Given the description of an element on the screen output the (x, y) to click on. 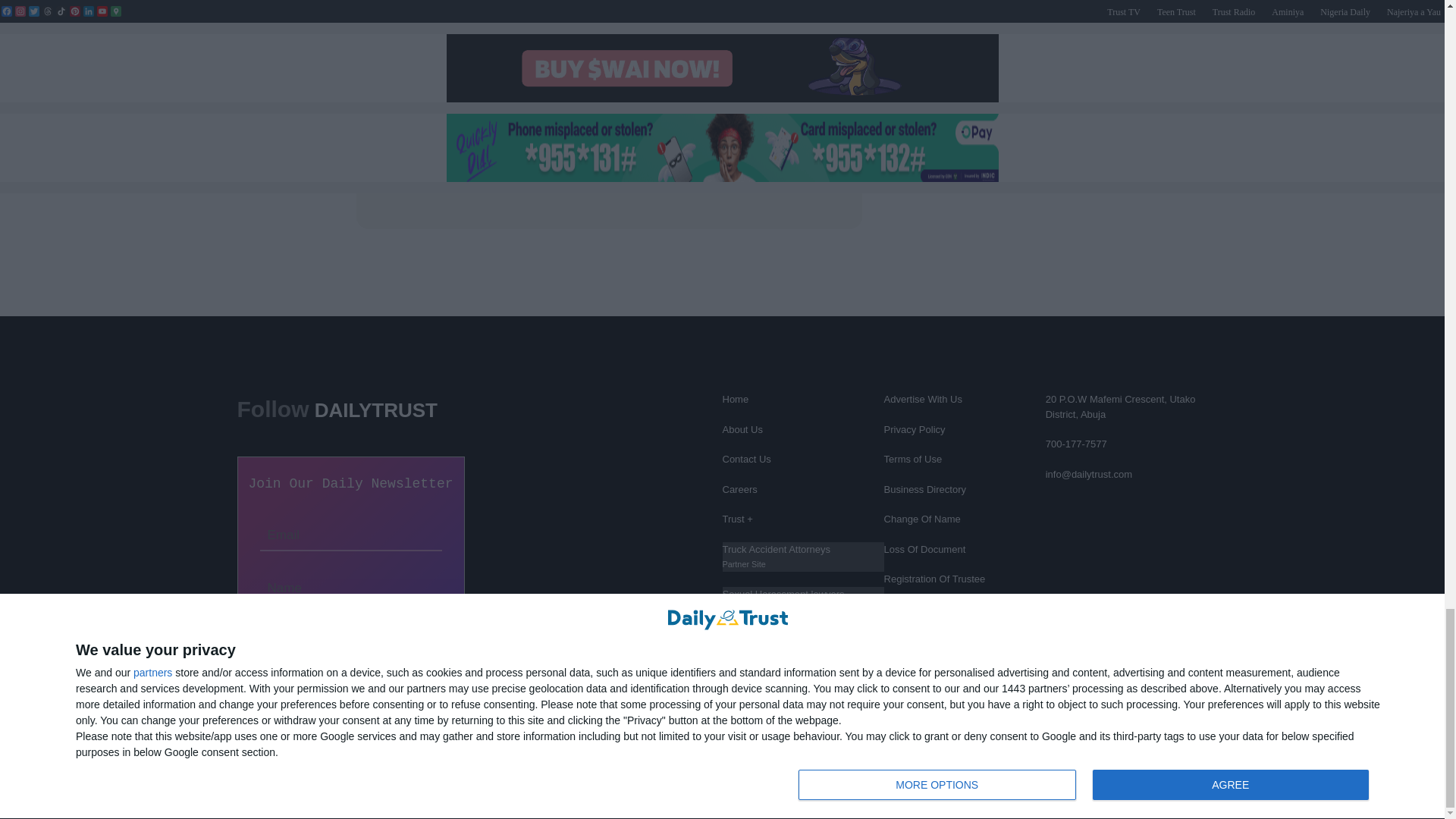
Join Now (350, 634)
